Given the description of an element on the screen output the (x, y) to click on. 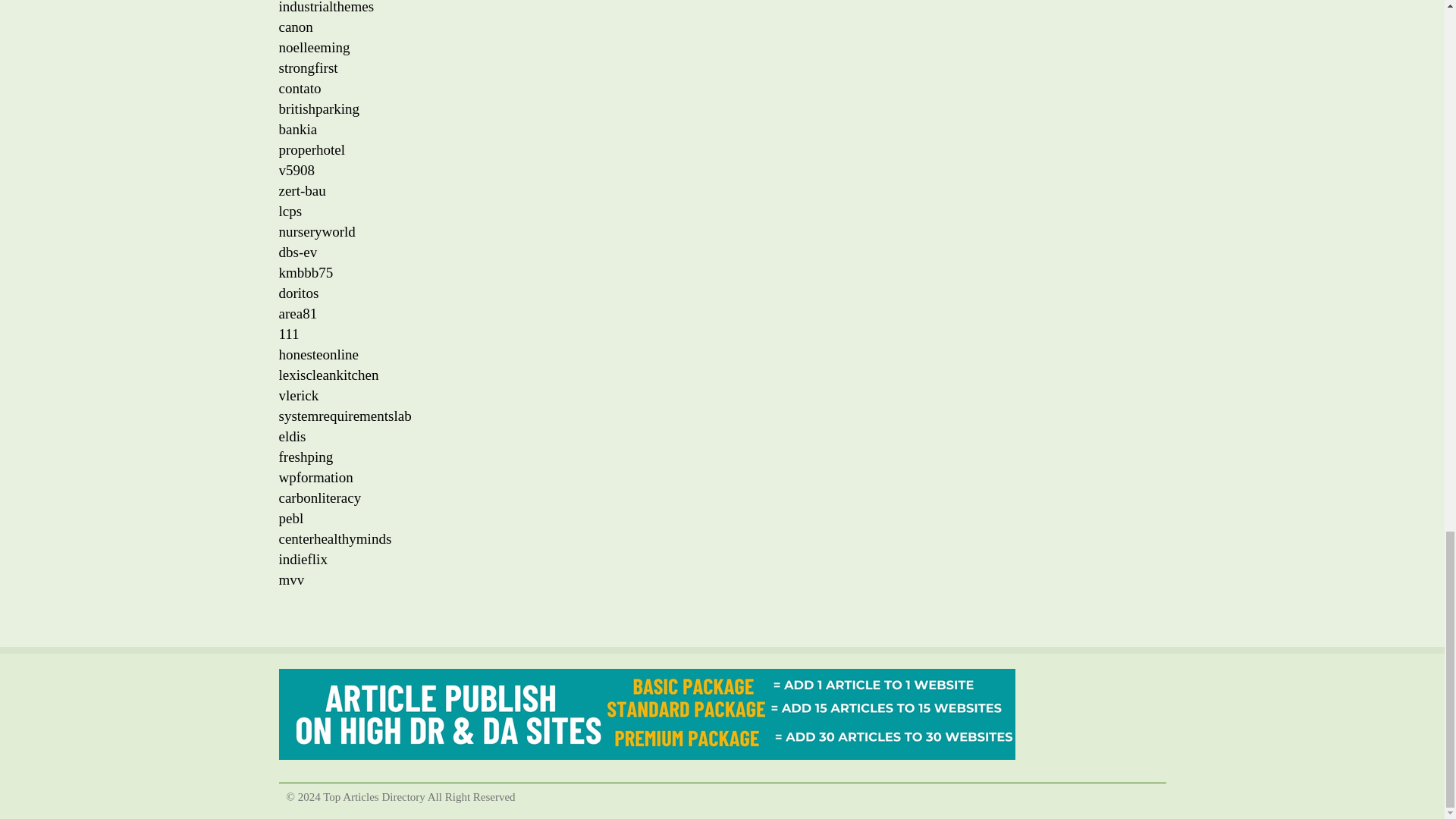
strongfirst (308, 67)
industrialthemes (326, 7)
bankia (298, 129)
lcps (290, 211)
v5908 (297, 170)
canon (296, 26)
noelleeming (314, 47)
properhotel (312, 149)
nurseryworld (317, 231)
kmbbb75 (306, 272)
dbs-ev (298, 252)
britishparking (319, 108)
contato (300, 88)
zert-bau (302, 190)
doritos (298, 293)
